Given the description of an element on the screen output the (x, y) to click on. 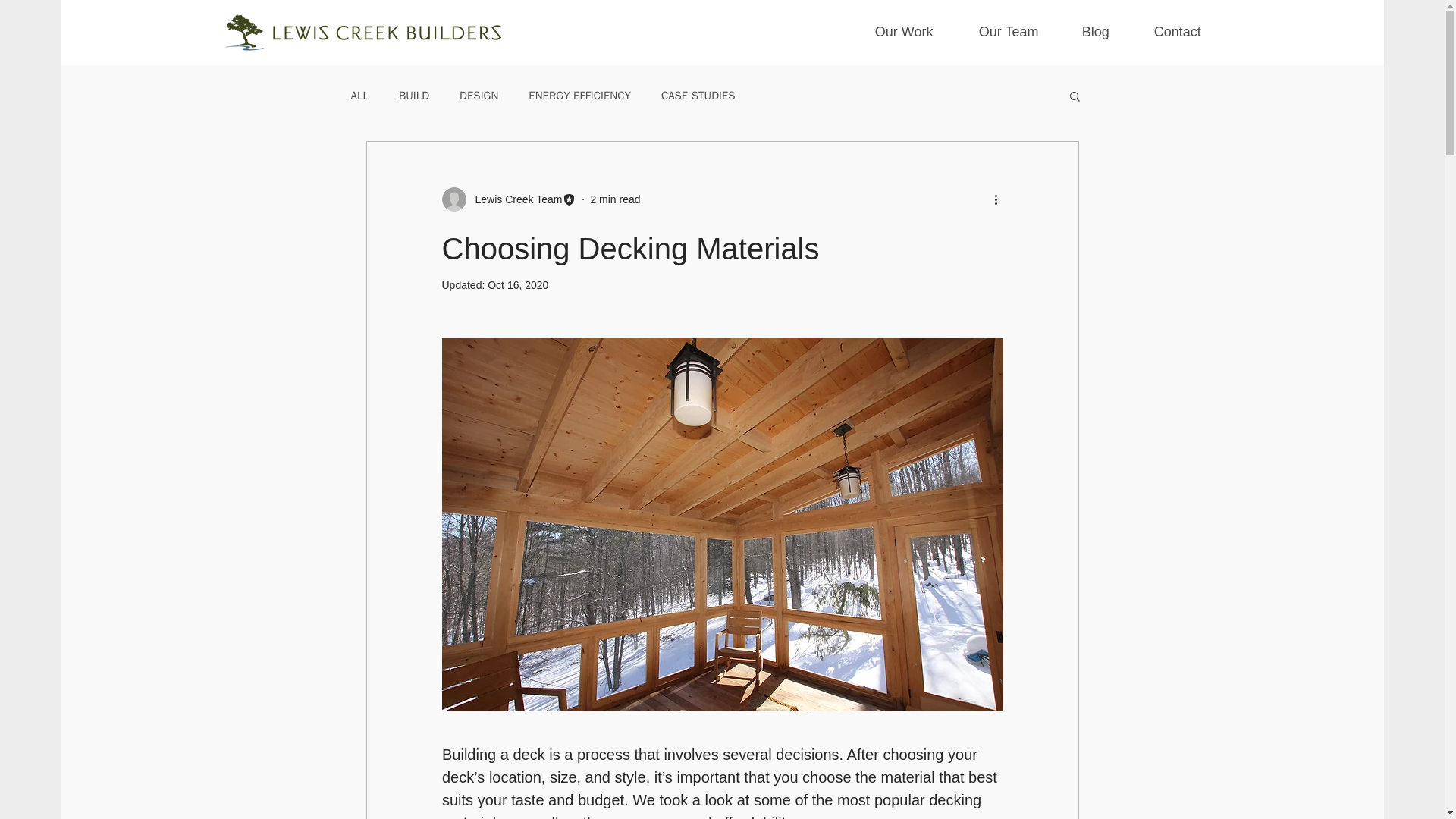
Our Team (1022, 31)
2 min read (614, 198)
ENERGY EFFICIENCY (579, 94)
BUILD (413, 94)
Blog (1110, 31)
CASE STUDIES (698, 94)
Lewis Creek Team (513, 198)
Oct 16, 2020 (517, 285)
ALL (359, 94)
Contact (1193, 31)
